Given the description of an element on the screen output the (x, y) to click on. 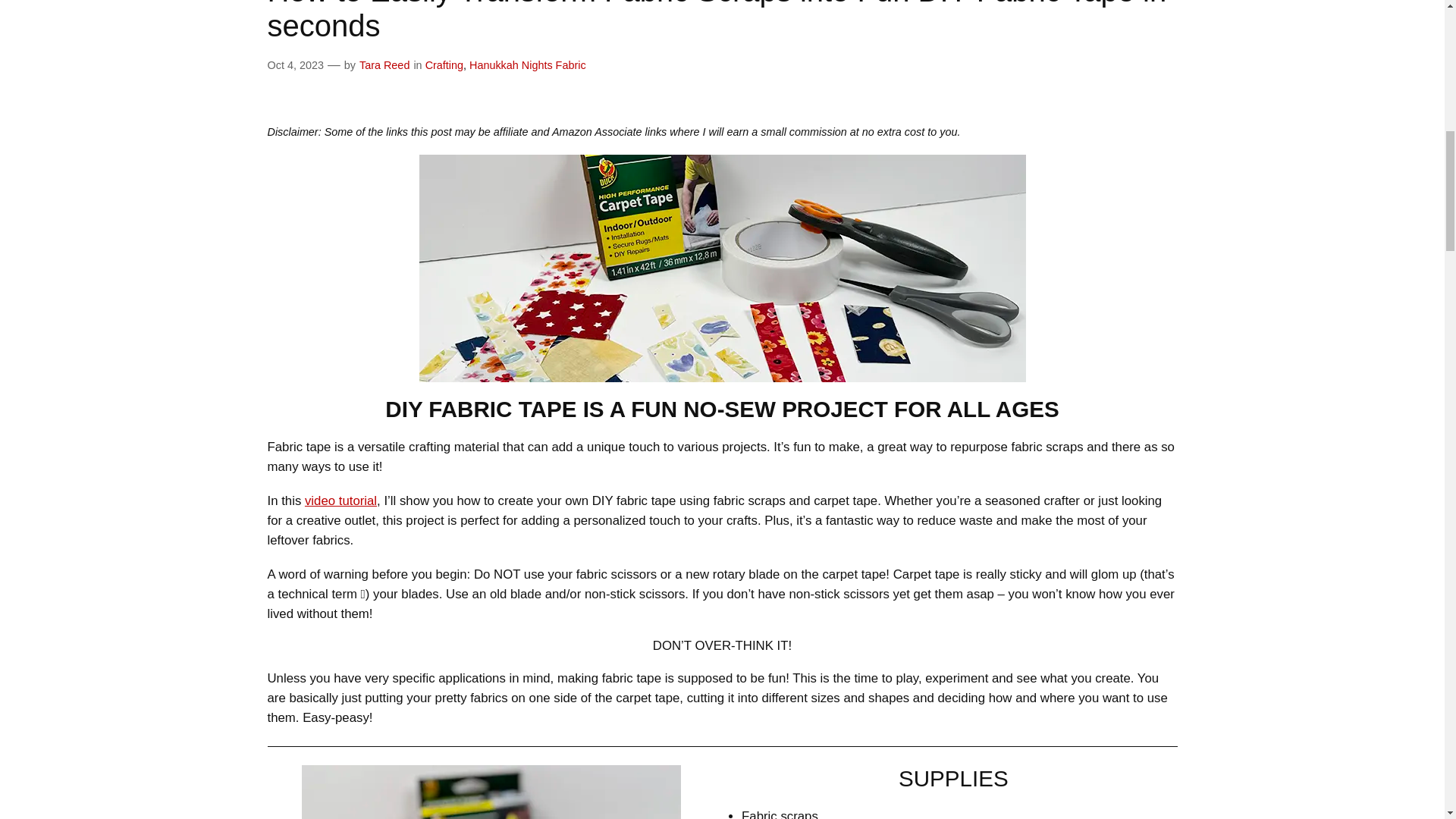
Hanukkah Nights Fabric (527, 64)
Crafting (444, 64)
video tutorial (340, 500)
Oct 4, 2023 (294, 64)
Tara Reed (384, 64)
